Given the description of an element on the screen output the (x, y) to click on. 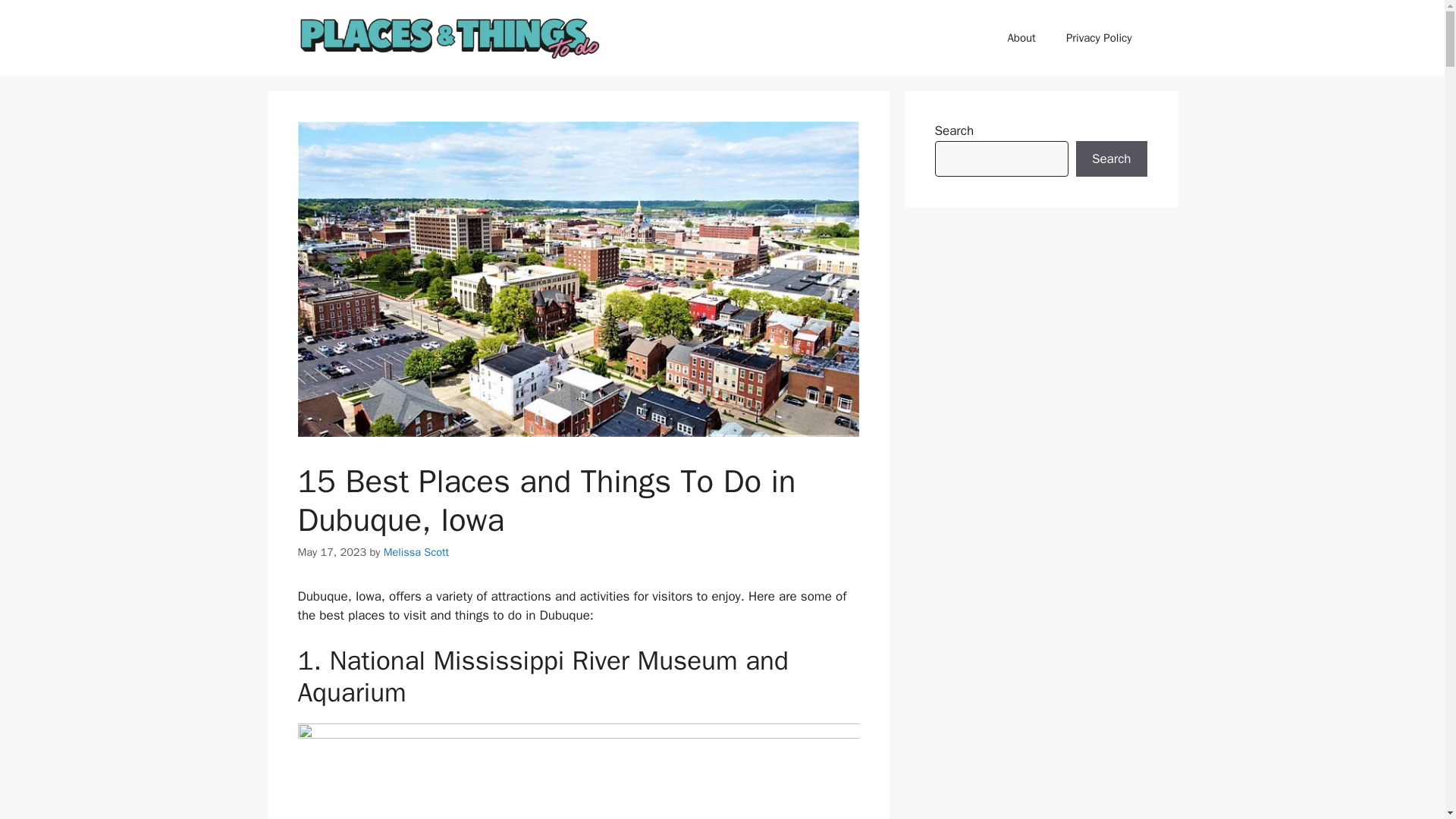
View all posts by Melissa Scott (416, 551)
Melissa Scott (416, 551)
About (1020, 37)
Privacy Policy (1099, 37)
